Given the description of an element on the screen output the (x, y) to click on. 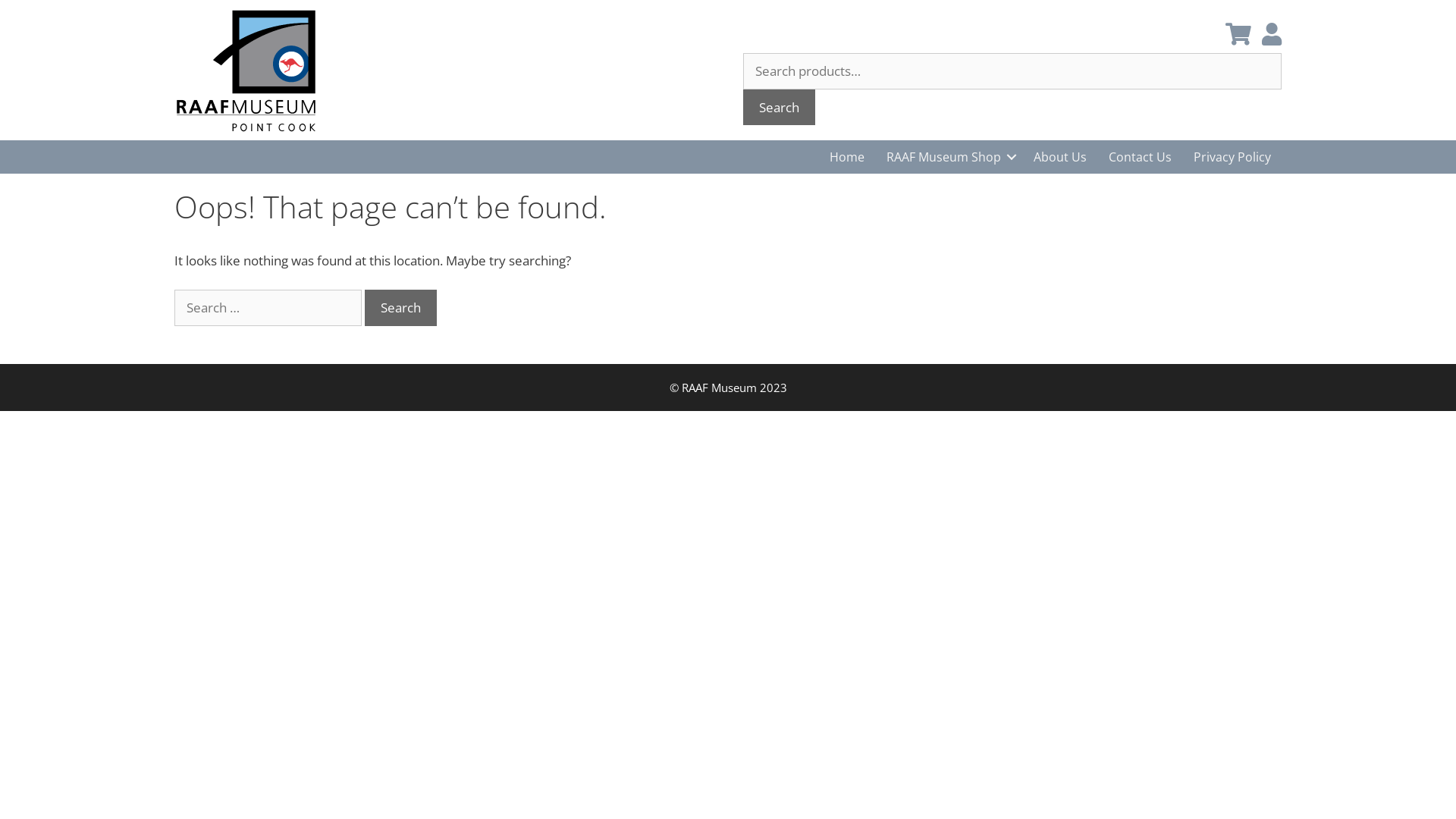
Search for: Element type: hover (267, 307)
Search Element type: text (779, 107)
Home Element type: text (847, 156)
About Us Element type: text (1059, 156)
logo Element type: hover (250, 69)
Contact Us Element type: text (1140, 156)
RAAF Museum Shop Element type: text (948, 156)
Search Element type: text (400, 307)
Privacy Policy Element type: text (1232, 156)
